Given the description of an element on the screen output the (x, y) to click on. 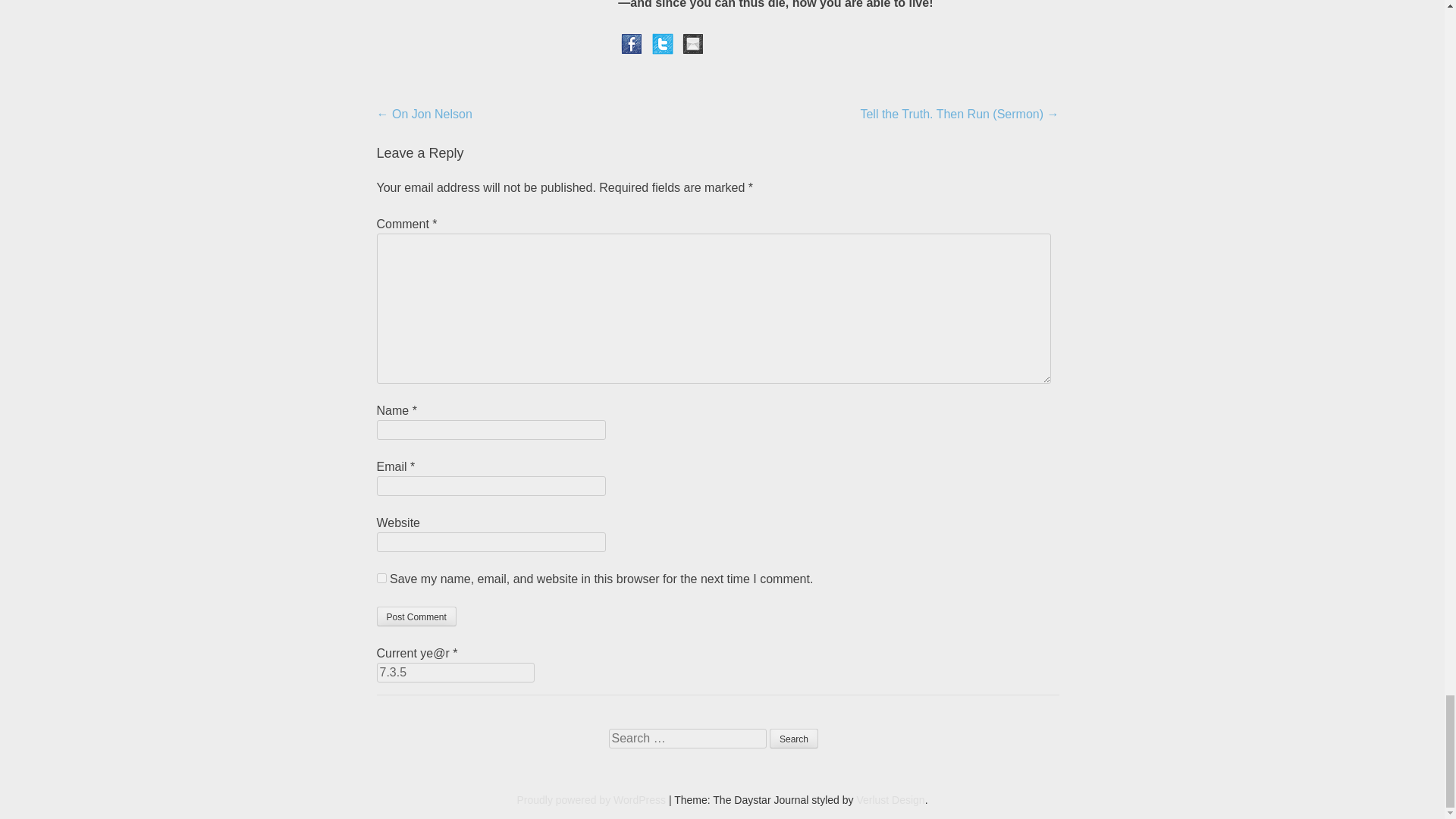
Search (794, 738)
Facebook (631, 42)
A Semantic Personal Publishing Platform (590, 799)
Twitter (663, 42)
yes (380, 578)
Email (692, 42)
7.3.5 (454, 672)
Post Comment (415, 616)
